Given the description of an element on the screen output the (x, y) to click on. 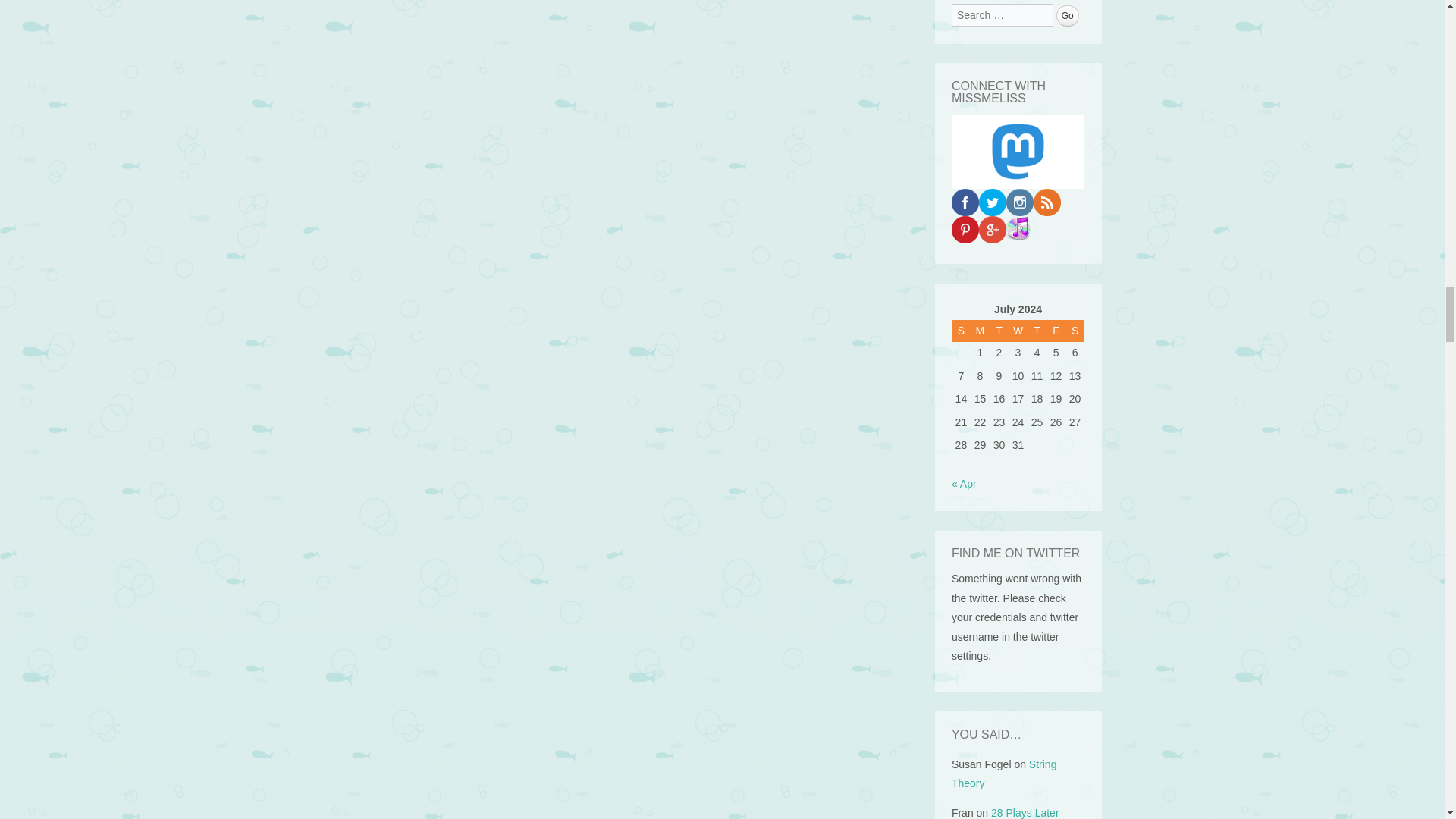
Go (1067, 15)
